Given the description of an element on the screen output the (x, y) to click on. 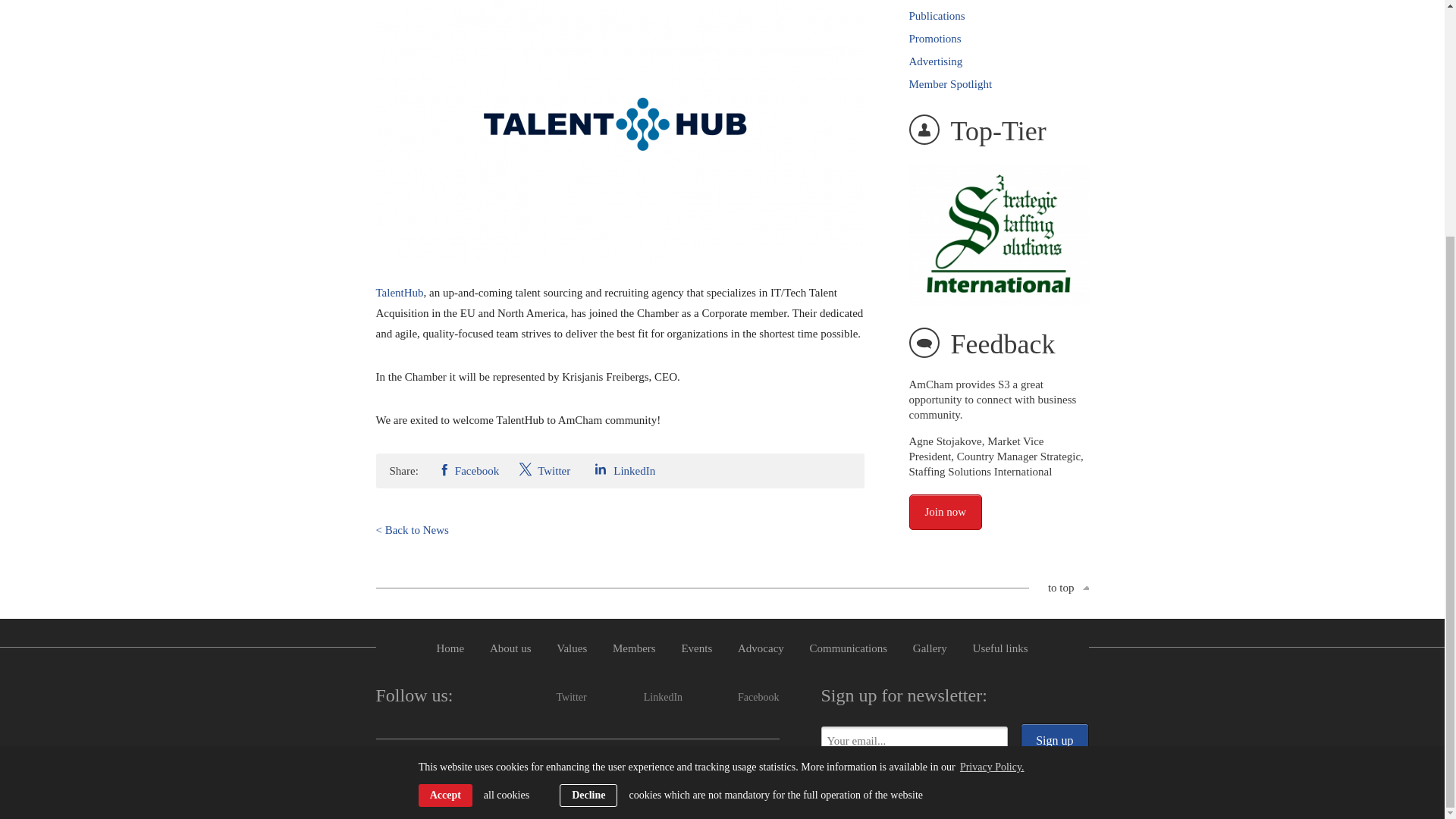
Decline (588, 472)
Privacy Policy. (992, 444)
Your email... (914, 740)
Accept (445, 472)
